Given the description of an element on the screen output the (x, y) to click on. 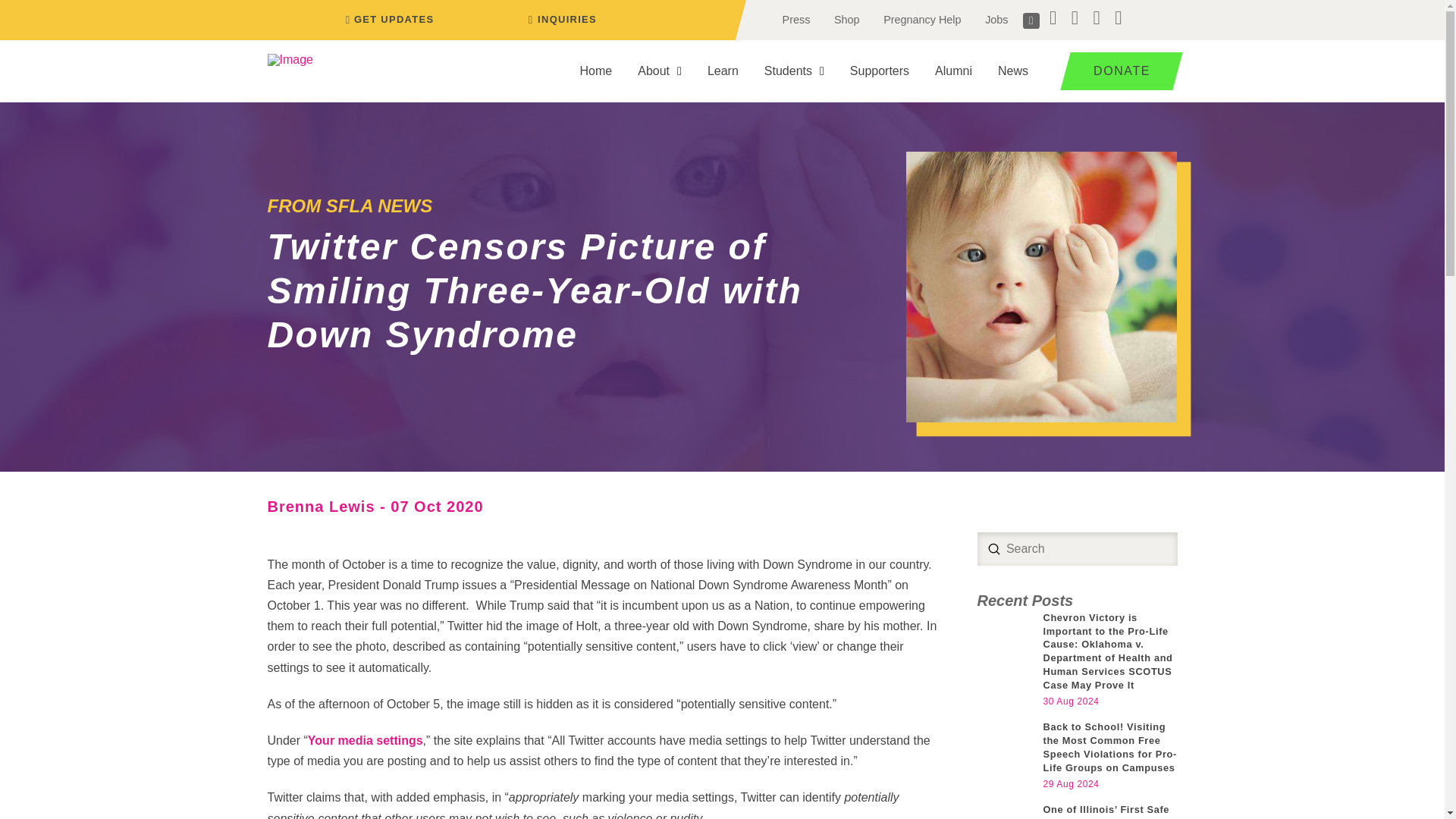
Supporters (879, 71)
Shop (846, 20)
News (1013, 71)
GET UPDATES (386, 20)
Press (796, 20)
Alumni (953, 71)
Your media settings (365, 739)
Learn (722, 71)
Pregnancy Help (921, 20)
Jobs (996, 20)
